Given the description of an element on the screen output the (x, y) to click on. 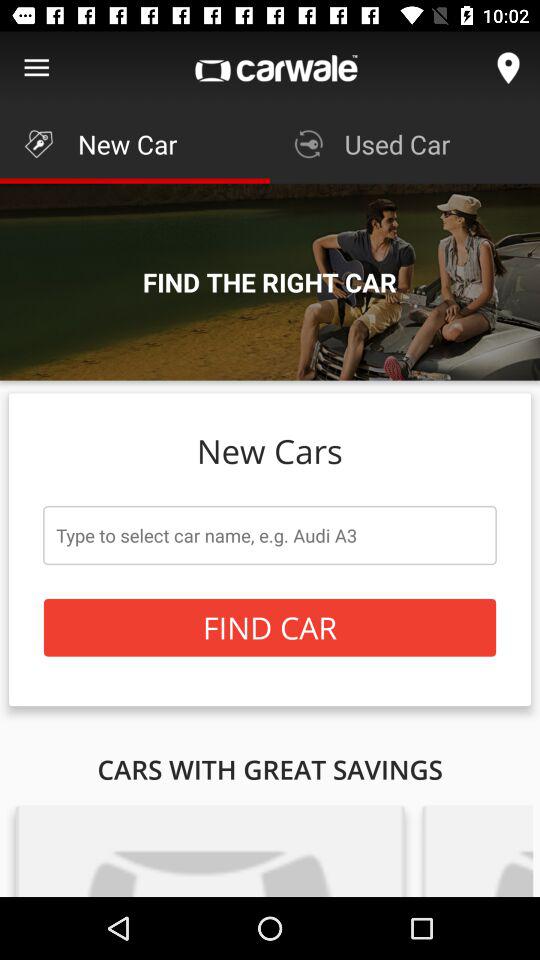
type search (269, 535)
